Given the description of an element on the screen output the (x, y) to click on. 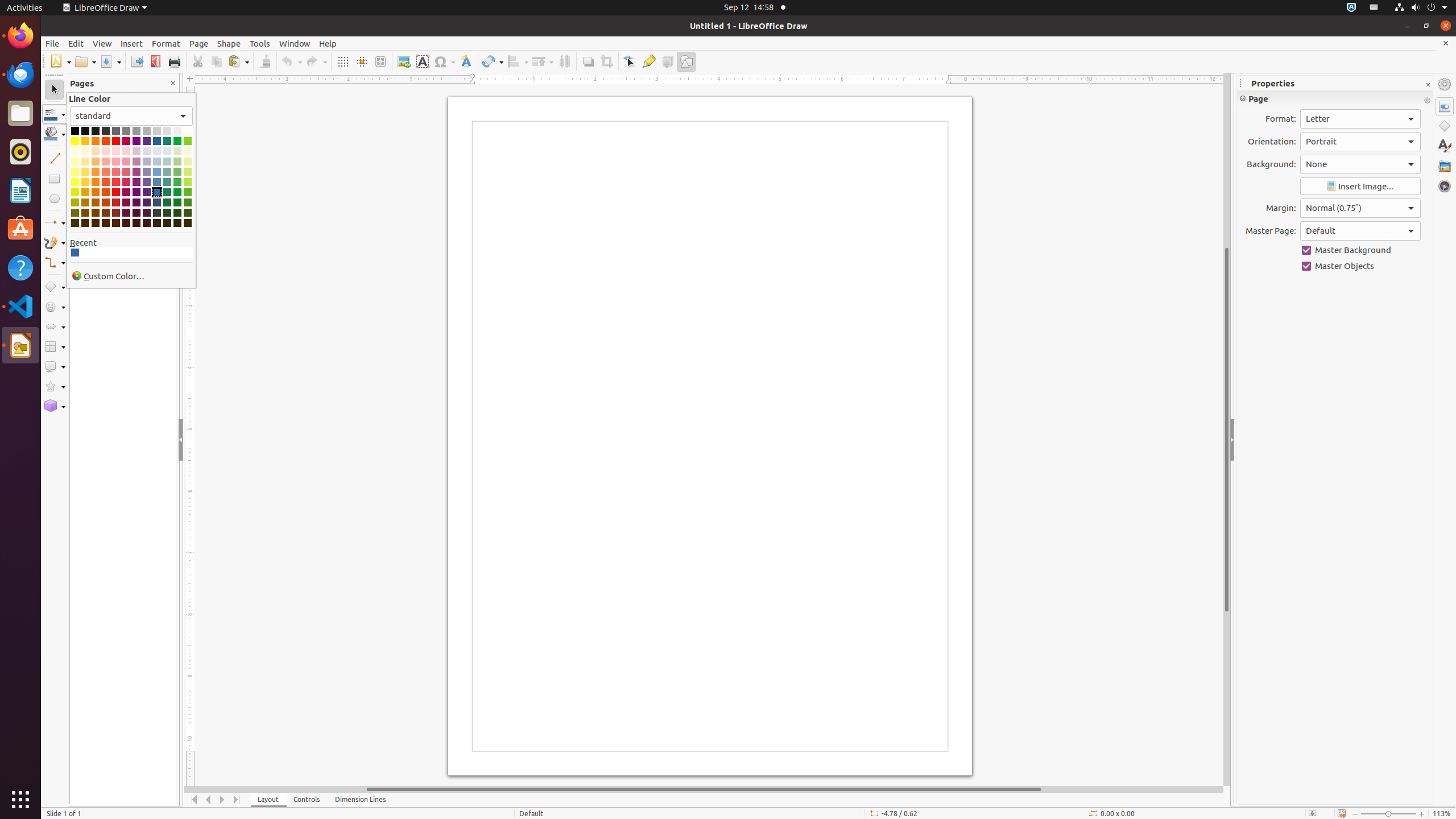
Light Purple 1 Element type: list-item (136, 181)
Light Gray 3 Element type: list-item (156, 130)
Light Yellow 4 Element type: list-item (74, 151)
File Element type: menu (51, 43)
Dark Teal 2 Element type: list-item (167, 202)
